Given the description of an element on the screen output the (x, y) to click on. 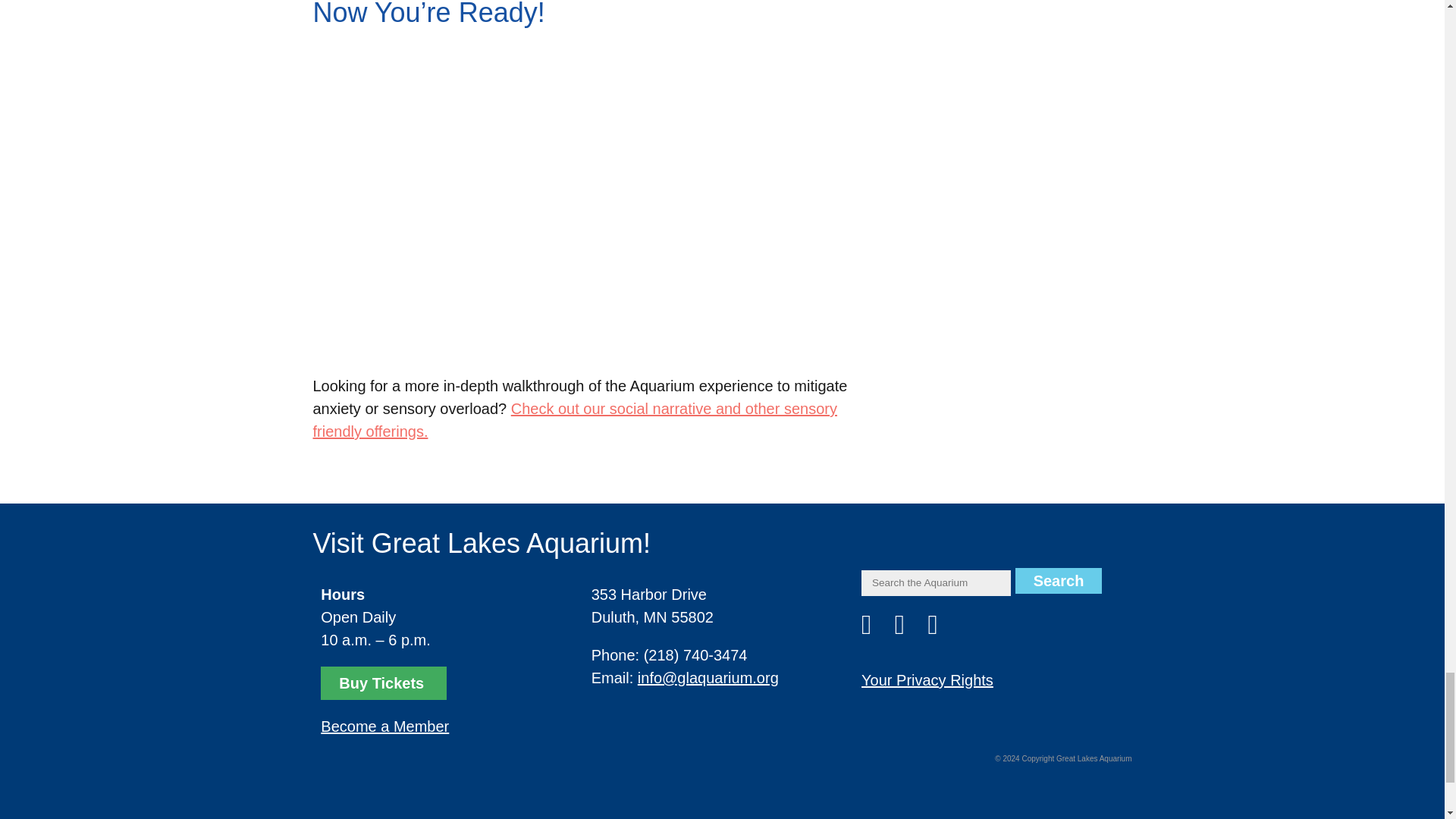
Become a Member (384, 726)
Shop (382, 683)
